Given the description of an element on the screen output the (x, y) to click on. 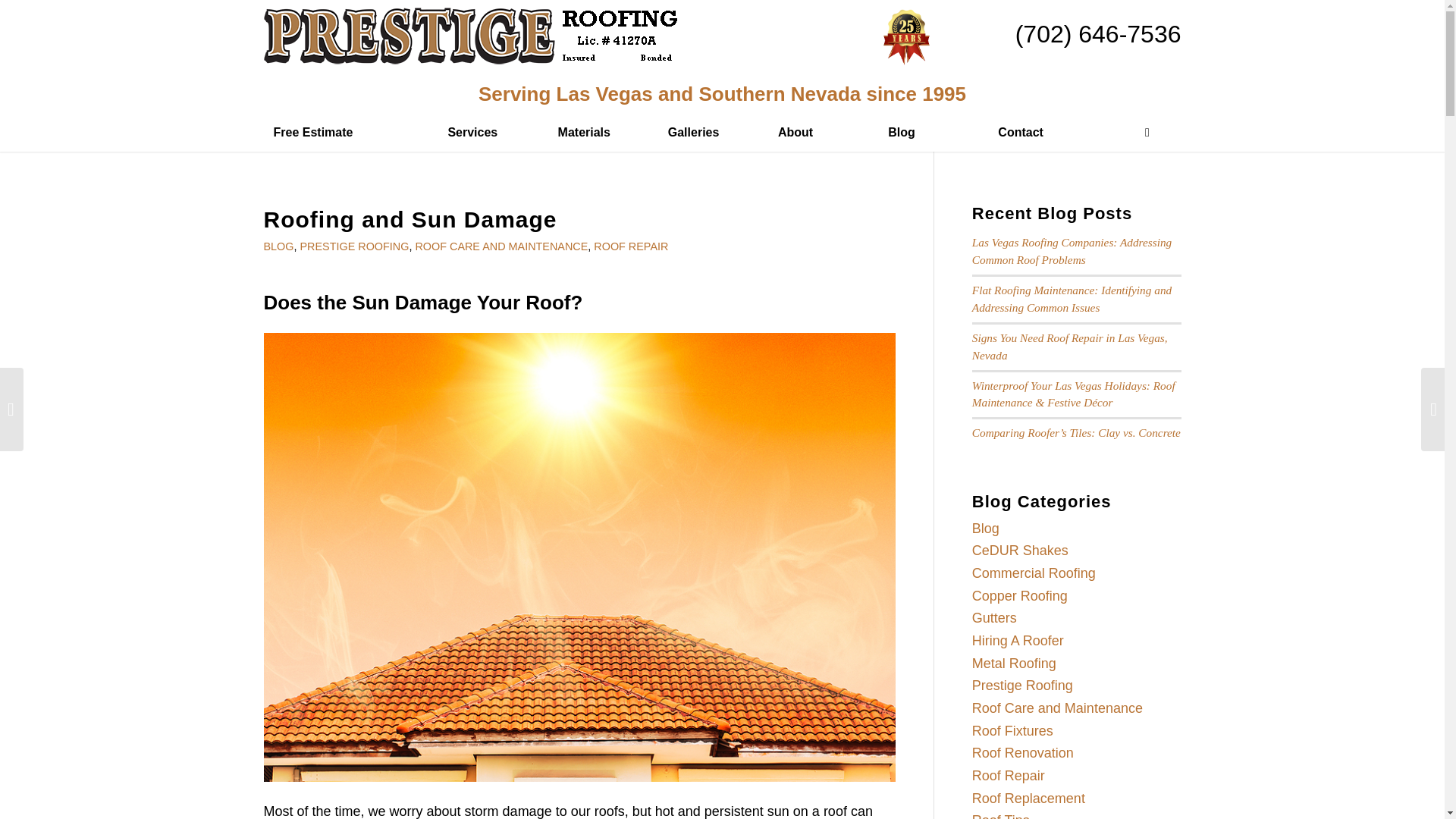
prestige-roofing-logo-original-2 (472, 41)
Blog (932, 132)
Materials (603, 132)
About (822, 132)
Services (492, 132)
Free Estimate (350, 132)
Contact (1042, 132)
Galleries (713, 132)
prestige-roofing-logo-original-2 (472, 35)
